Given the description of an element on the screen output the (x, y) to click on. 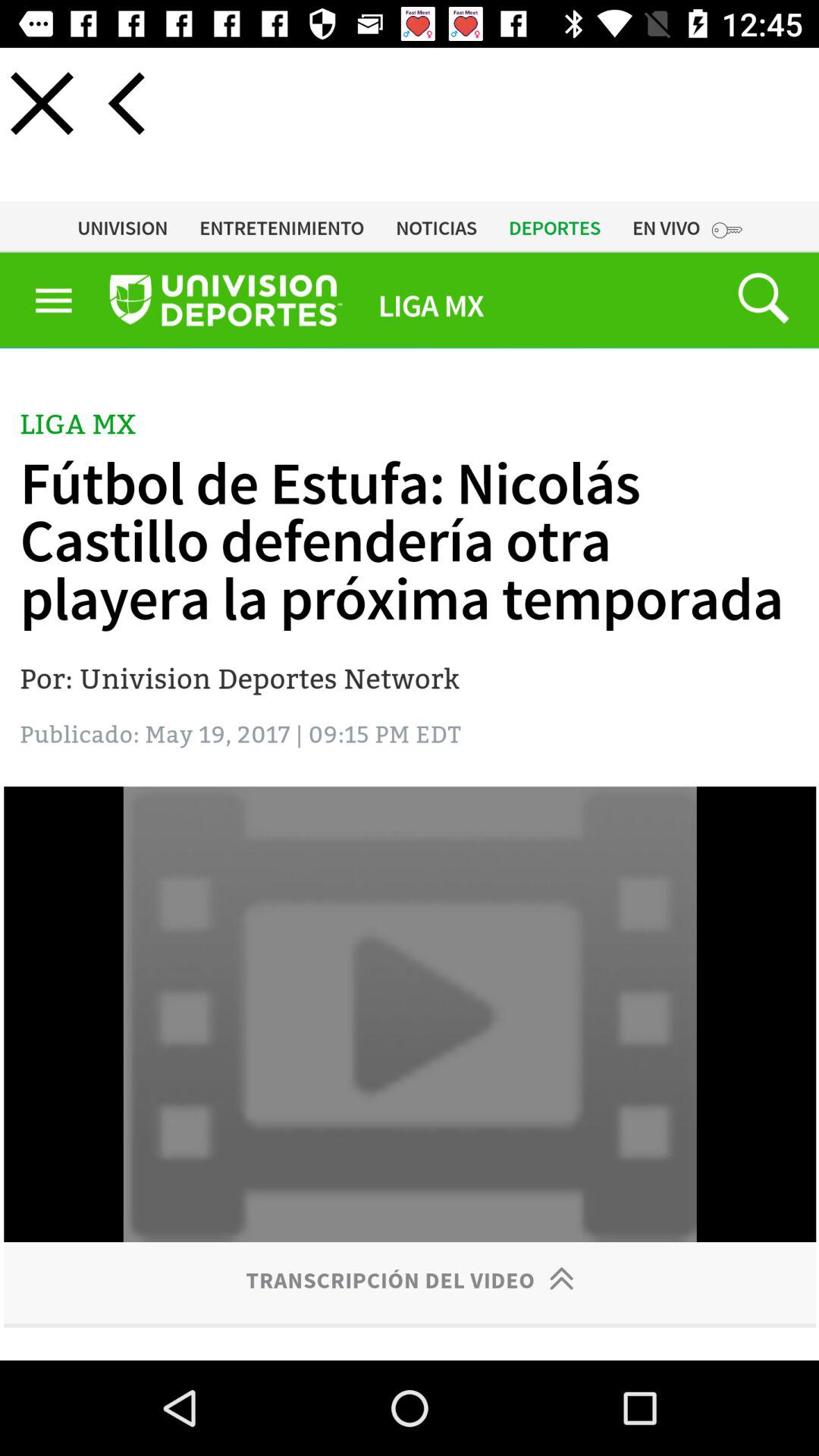
go to previous (126, 103)
